Given the description of an element on the screen output the (x, y) to click on. 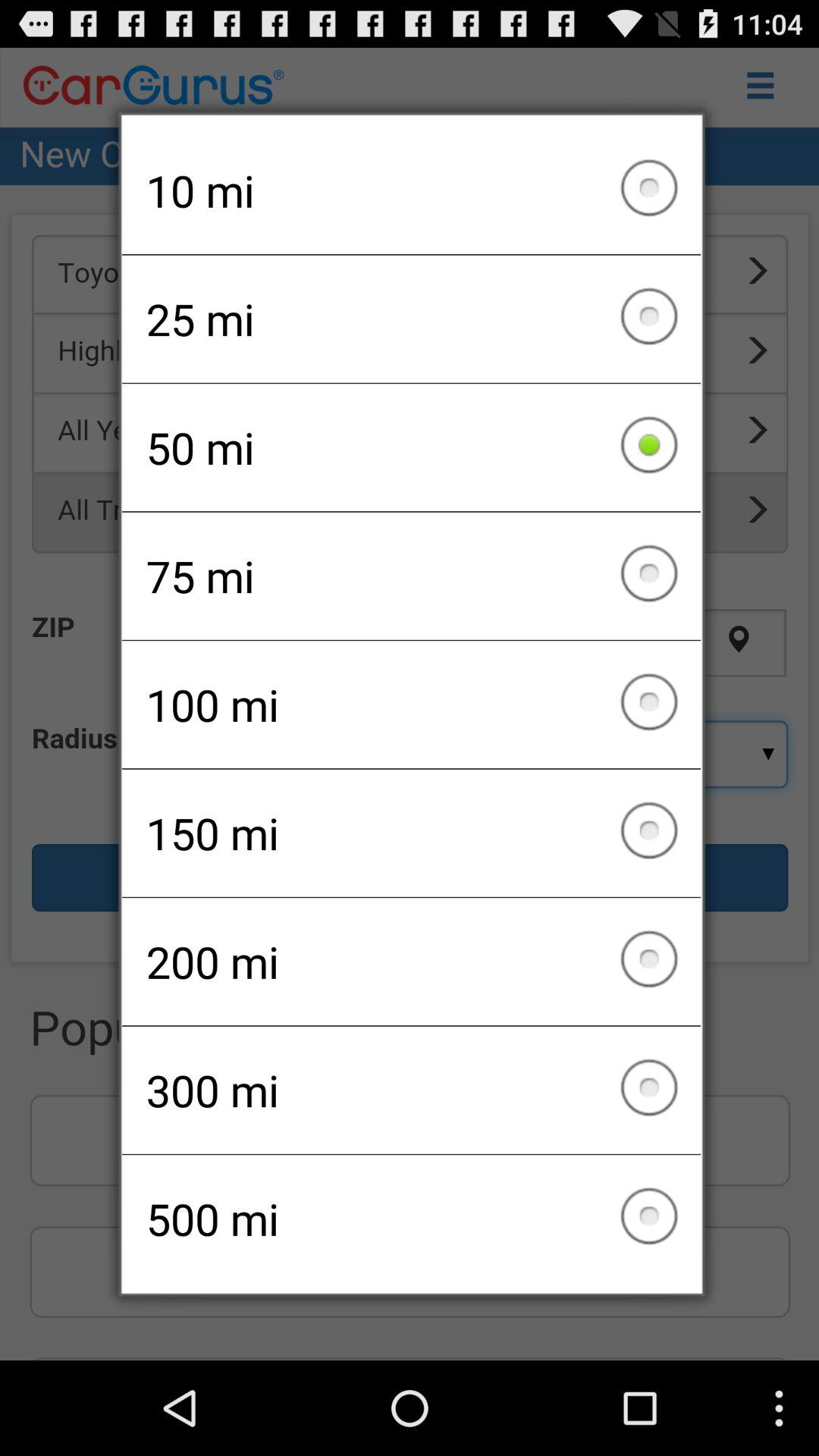
click 500 mi icon (411, 1218)
